Given the description of an element on the screen output the (x, y) to click on. 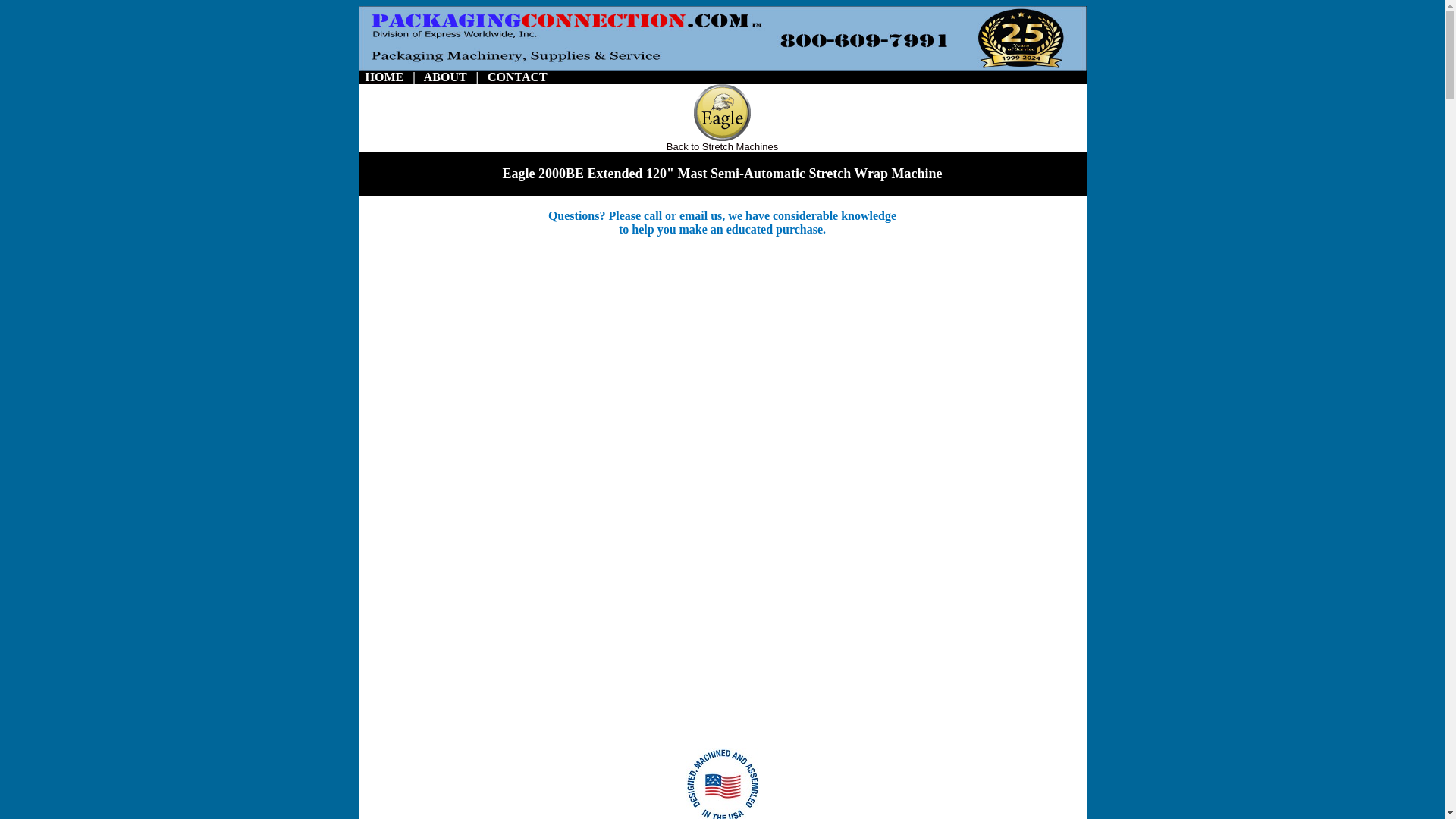
CONTACT (517, 77)
Back to Stretch Machines (721, 146)
HOME (384, 76)
ABOUT (445, 76)
